Given the description of an element on the screen output the (x, y) to click on. 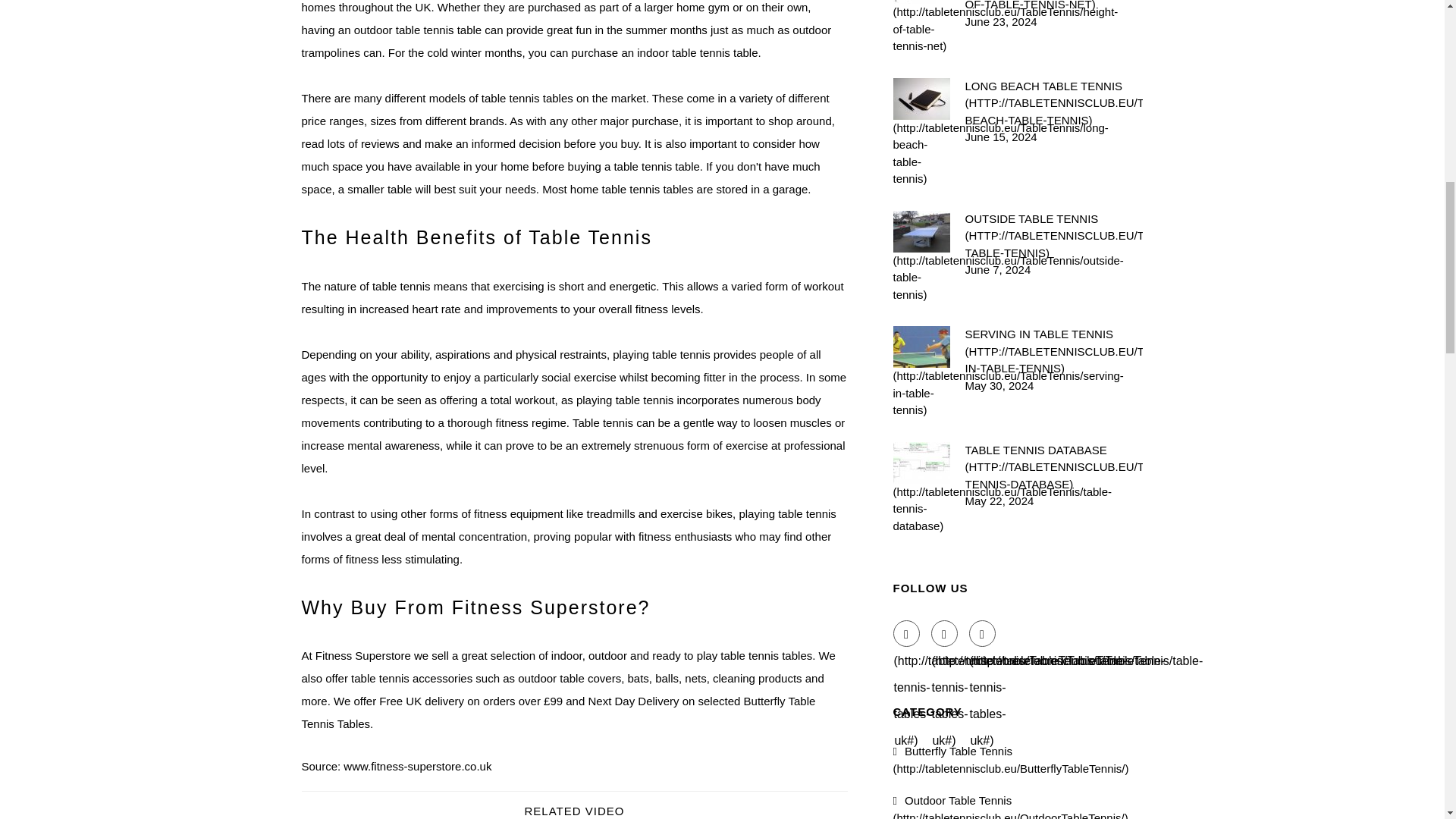
Facebook (906, 633)
View all posts filed under Outdoor Table Tennis (1010, 806)
HEIGHT OF TABLE TENNIS NET (1052, 6)
View all posts filed under Butterfly Table Tennis (1011, 759)
Twitter (944, 633)
Google Plus (982, 633)
